Given the description of an element on the screen output the (x, y) to click on. 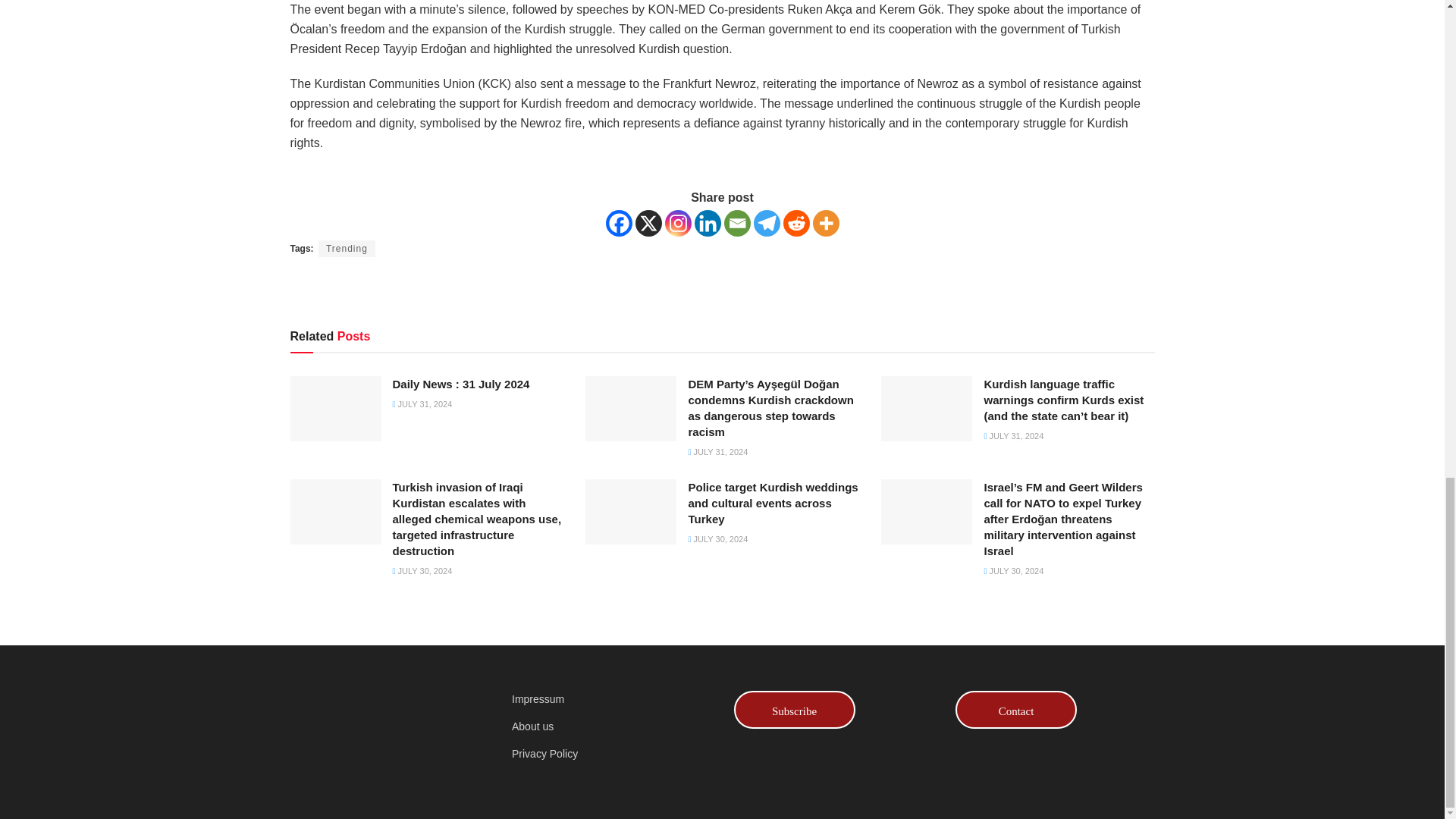
Email (736, 222)
Linkedin (707, 222)
Instagram (676, 222)
X (648, 222)
Facebook (618, 222)
Telegram (767, 222)
